Given the description of an element on the screen output the (x, y) to click on. 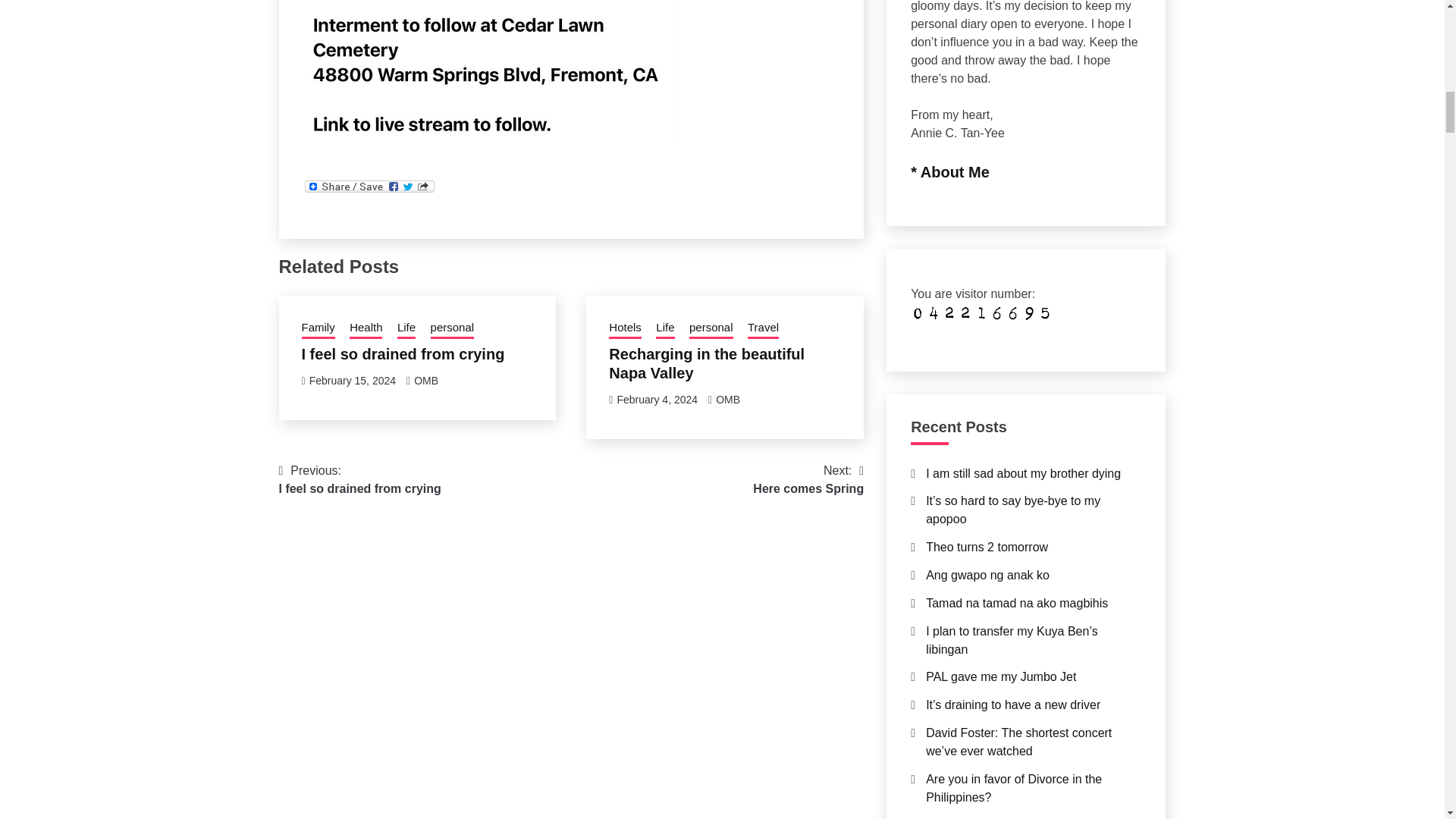
Family (317, 329)
Life (405, 329)
personal (452, 329)
personal (710, 329)
OMB (360, 479)
Hotels (425, 380)
Health (625, 329)
OMB (365, 329)
I feel so drained from crying (727, 399)
Life (403, 353)
Travel (665, 329)
February 15, 2024 (763, 329)
February 4, 2024 (807, 479)
